Given the description of an element on the screen output the (x, y) to click on. 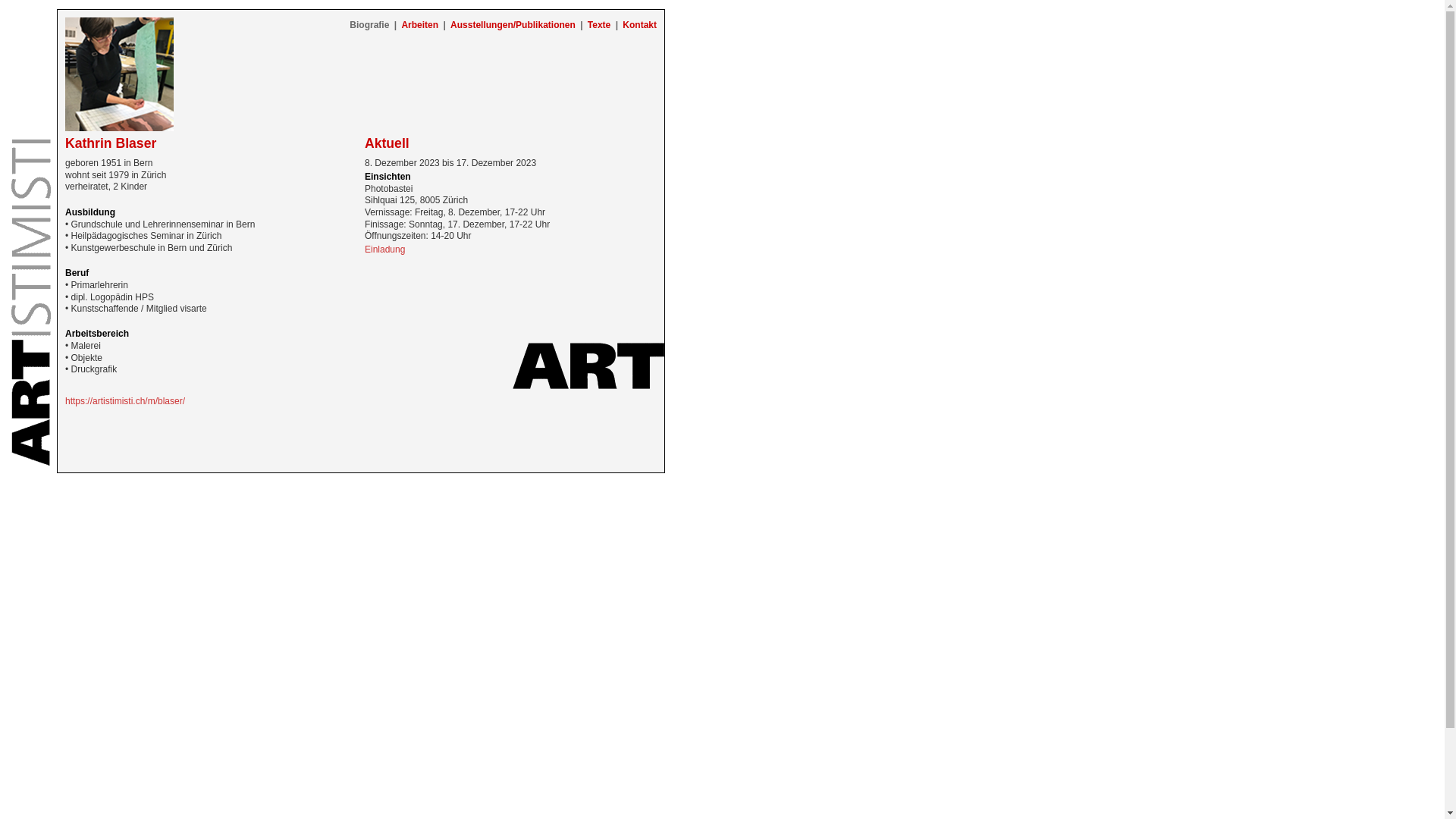
Einladung Element type: text (384, 249)
Kontakt Element type: text (639, 24)
Biografie Element type: text (369, 24)
Arbeiten Element type: text (419, 24)
Texte Element type: text (598, 24)
https://artistimisti.ch/m/blaser/ Element type: text (125, 400)
Ausstellungen/Publikationen Element type: text (512, 24)
